Given the description of an element on the screen output the (x, y) to click on. 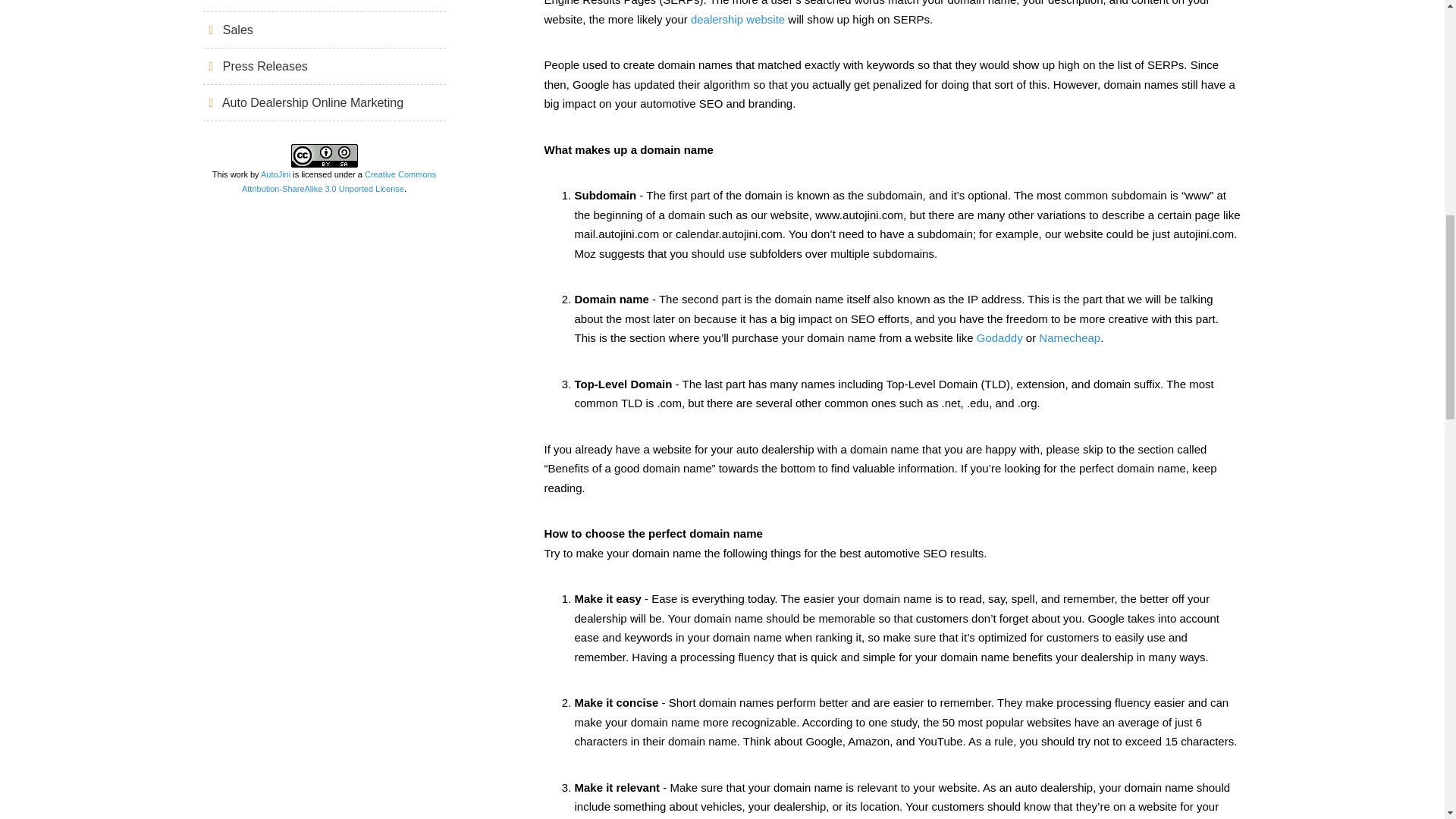
dealership website (737, 19)
Creative Commons Attribution-ShareAlike 3.0 Unported License (338, 181)
Press Releases (324, 66)
Pay Per Click Advertising (324, 5)
AutoJini (274, 174)
Auto Dealership Online Marketing (324, 102)
Namecheap (1069, 337)
Sales (324, 29)
Godaddy (999, 337)
